Given the description of an element on the screen output the (x, y) to click on. 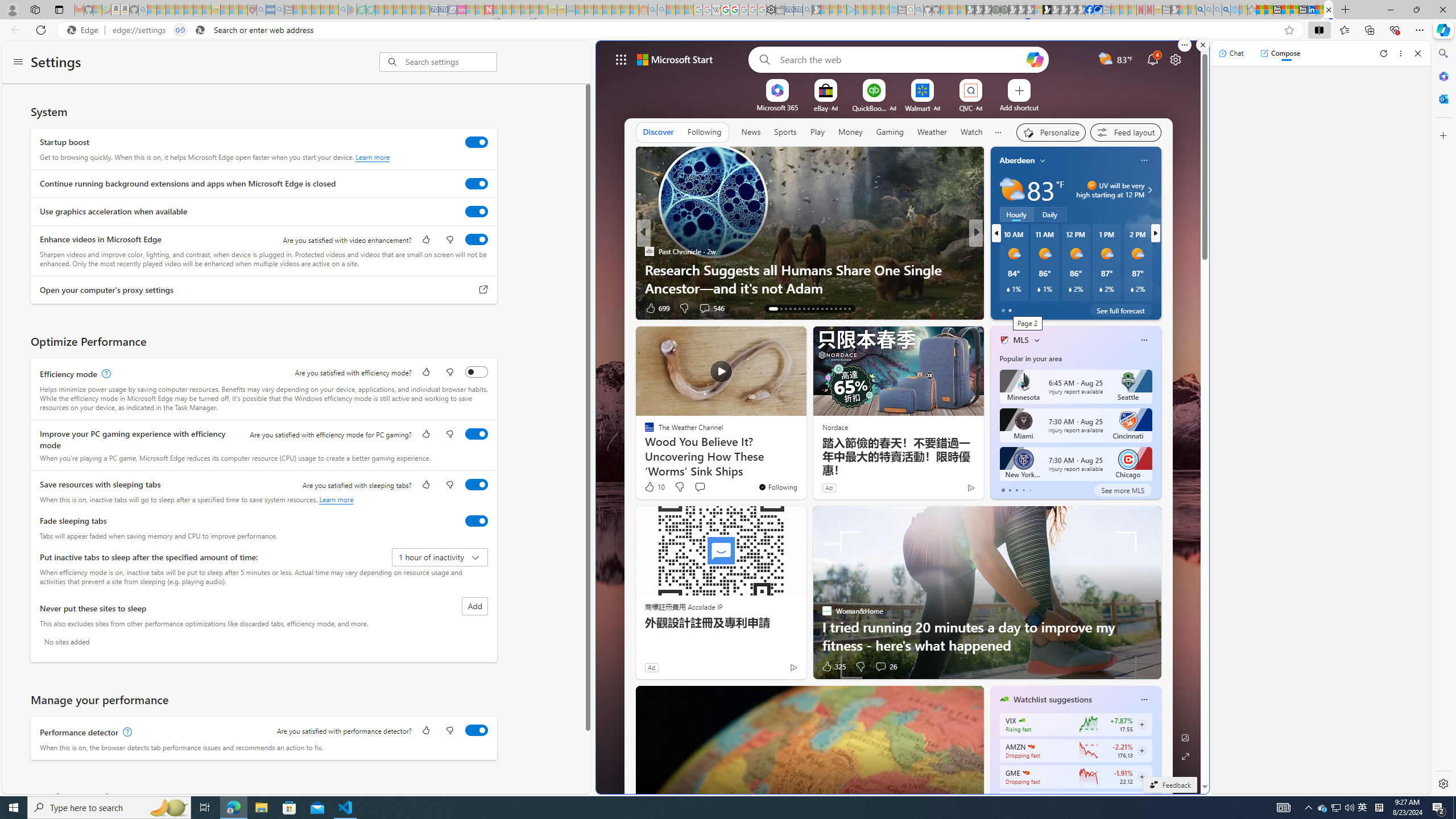
Kinda Frugal - MSN - Sleeping (616, 9)
Save resources with sleeping tabs (476, 484)
Play (816, 131)
8 Things I Did to Lose 25 Pounds in 6 Months (1159, 287)
Lifewire (999, 269)
Add site to never put these sites to sleep list (474, 606)
EatingWell (999, 250)
76 Like (1005, 307)
